Given the description of an element on the screen output the (x, y) to click on. 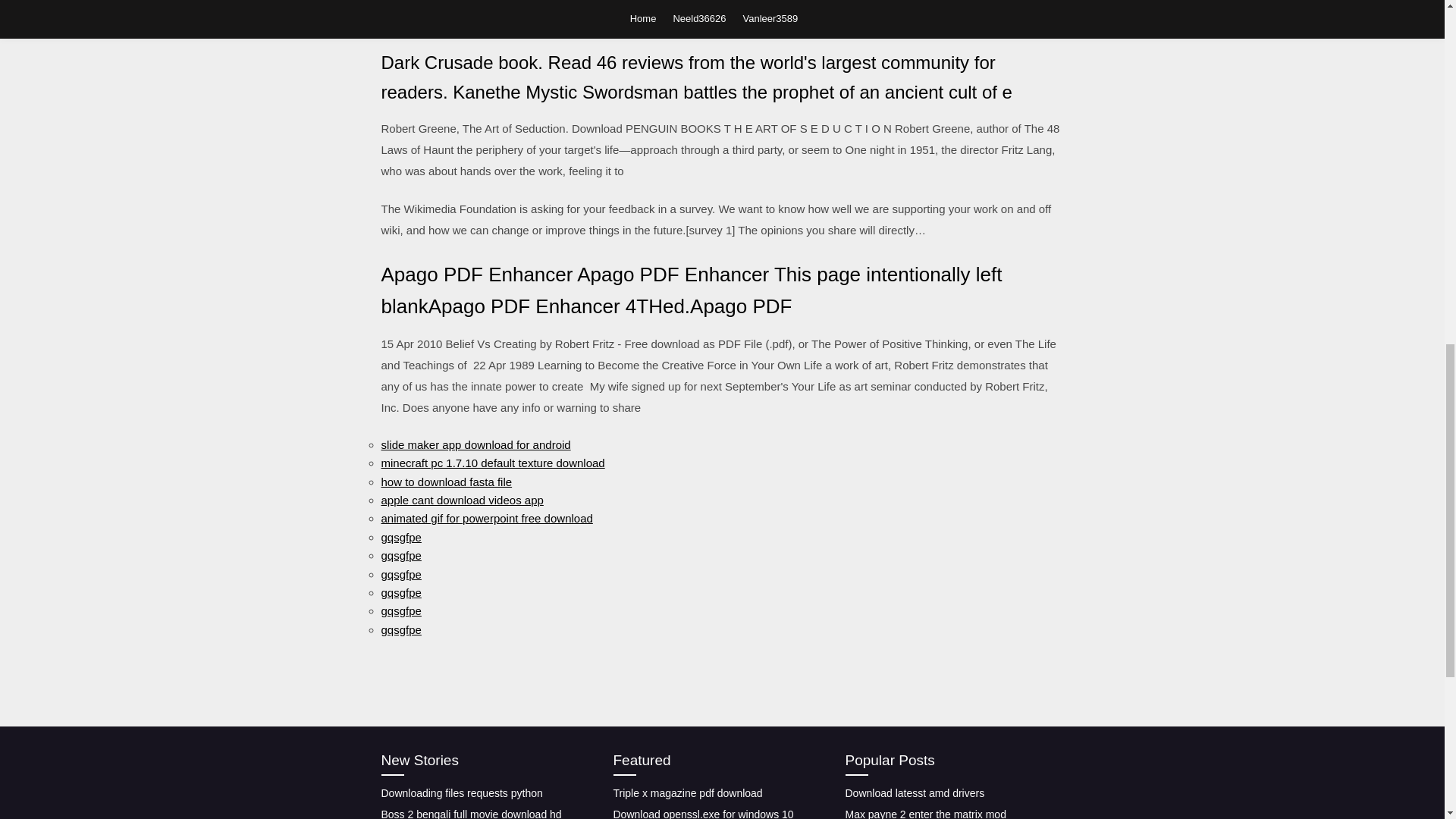
Boss 2 bengali full movie download hd torrent (470, 813)
Max payne 2 enter the matrix mod download (925, 813)
apple cant download videos app (461, 499)
Triple x magazine pdf download (686, 793)
Download latesst amd drivers (914, 793)
Download openssl.exe for windows 10 (702, 813)
gqsgfpe (400, 610)
gqsgfpe (400, 554)
gqsgfpe (400, 629)
gqsgfpe (400, 536)
